Given the description of an element on the screen output the (x, y) to click on. 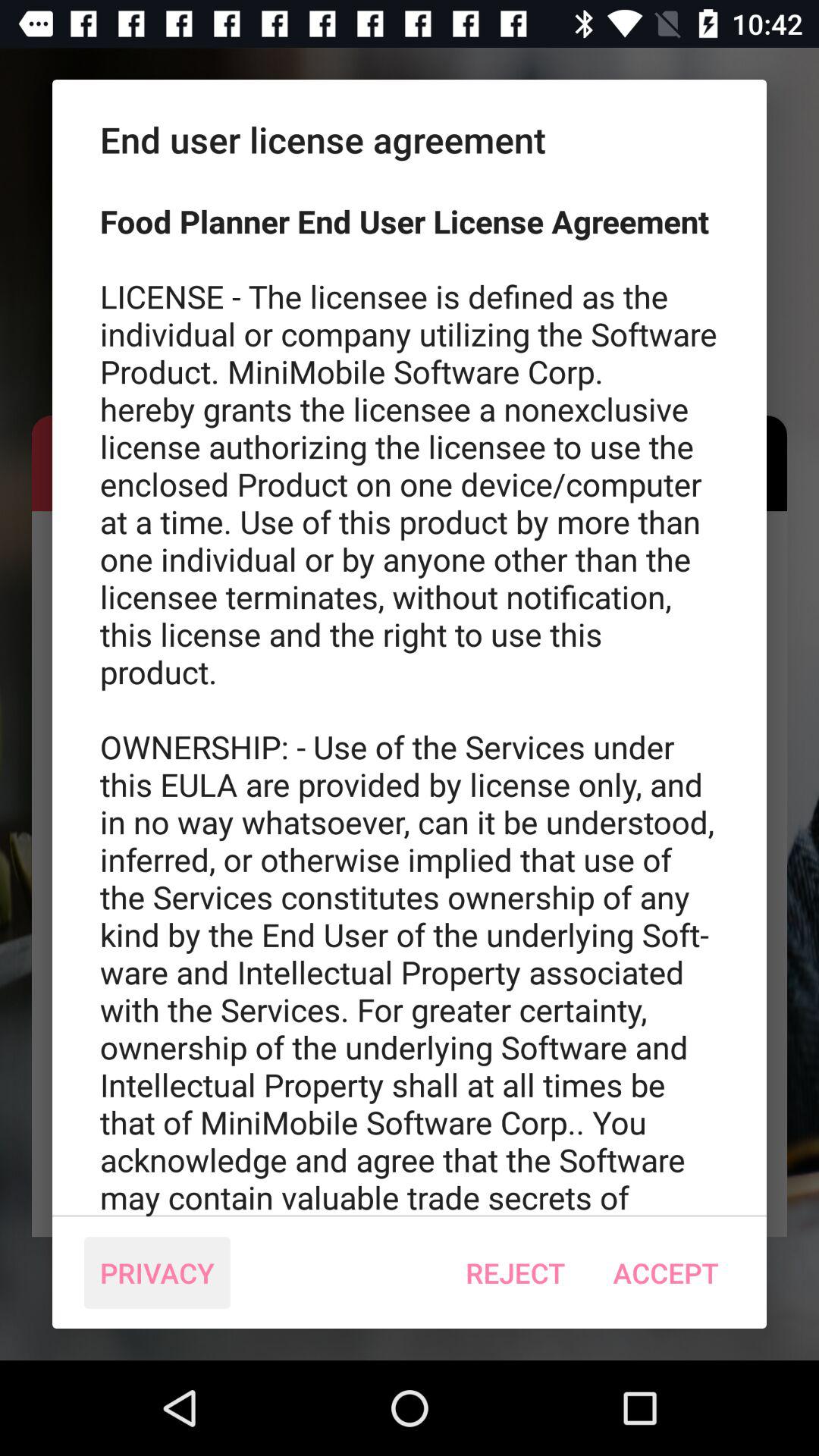
tap icon at the bottom right corner (665, 1272)
